Given the description of an element on the screen output the (x, y) to click on. 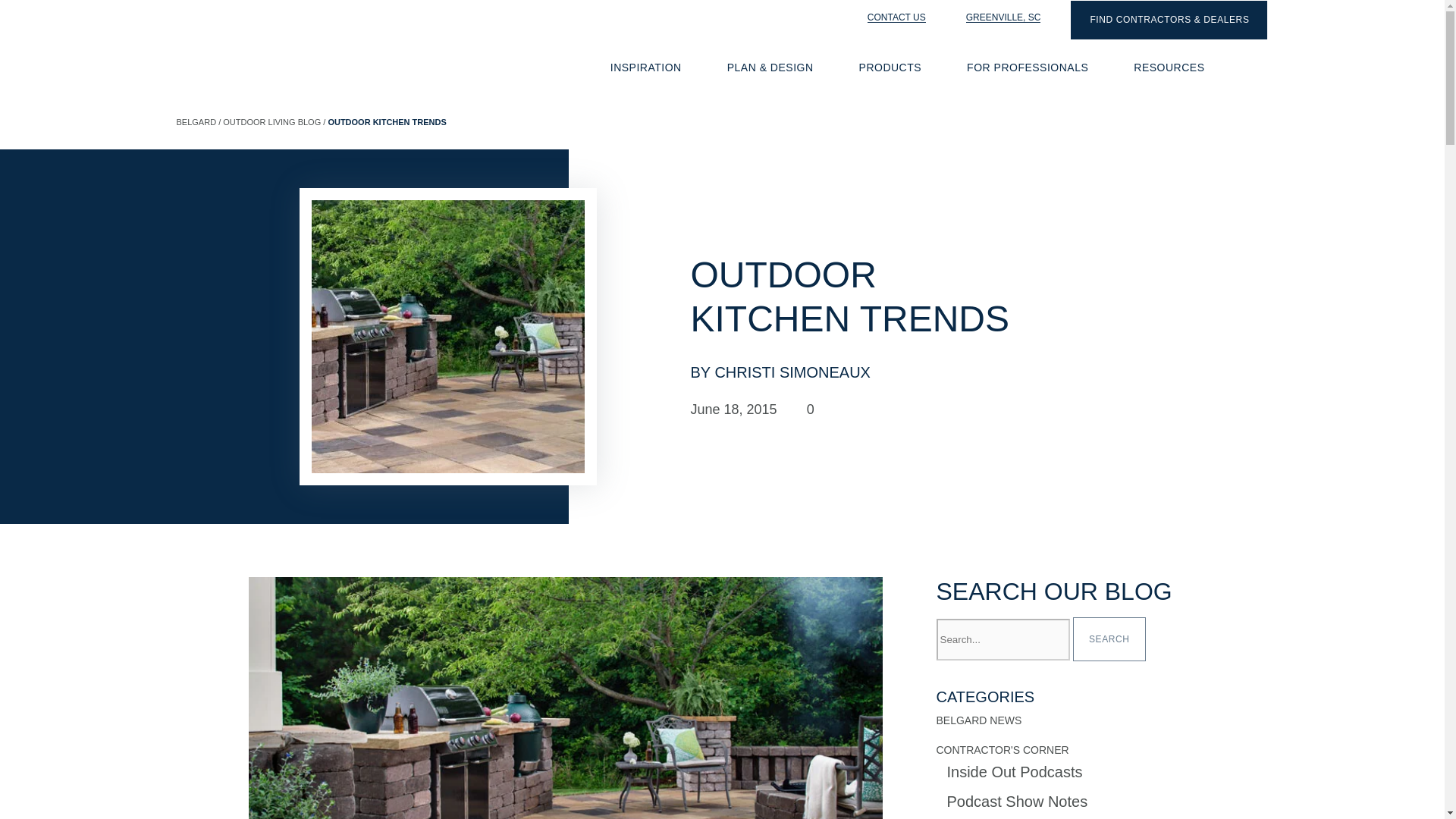
Go to Belgard. (195, 121)
INSPIRATION (646, 67)
CONTACT US (888, 17)
Posts by Christi Simoneaux (779, 371)
GREENVILLE, SC (995, 17)
Go to Outdoor Living Blog. (271, 148)
